Given the description of an element on the screen output the (x, y) to click on. 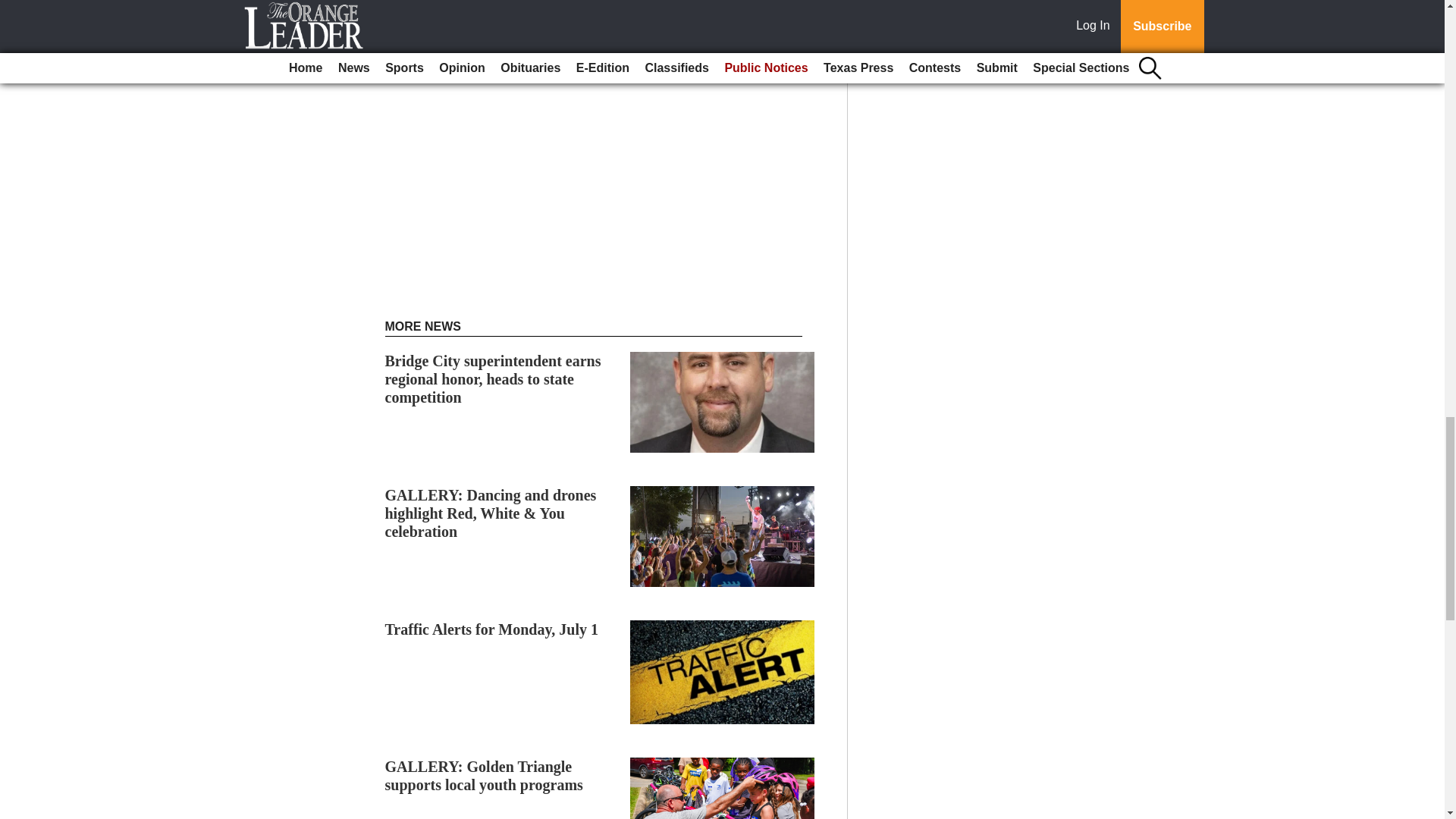
GALLERY: Golden Triangle supports local youth programs (484, 775)
Traffic Alerts for Monday, July 1 (491, 629)
Traffic Alerts for Monday, July 1 (491, 629)
GALLERY: Golden Triangle supports local youth programs (484, 775)
